Given the description of an element on the screen output the (x, y) to click on. 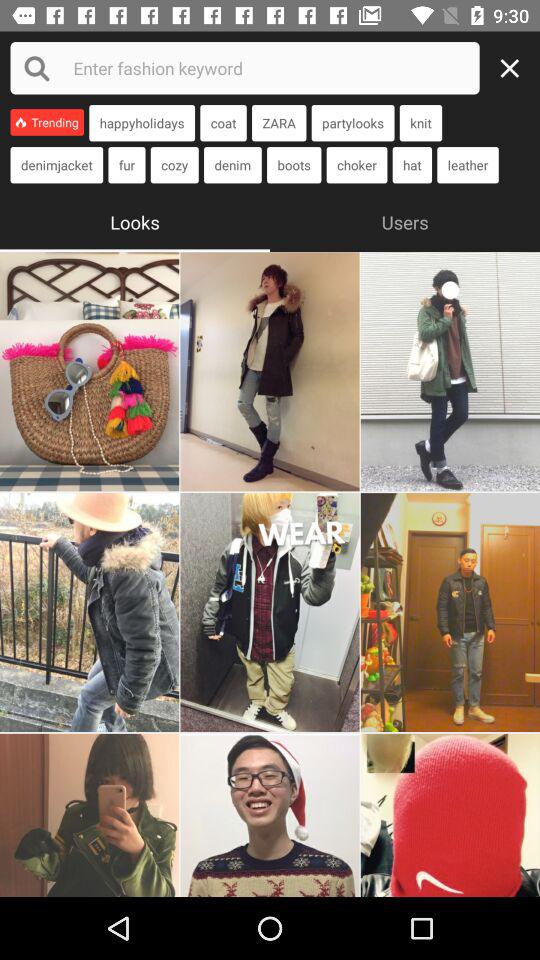
close search (515, 68)
